Given the description of an element on the screen output the (x, y) to click on. 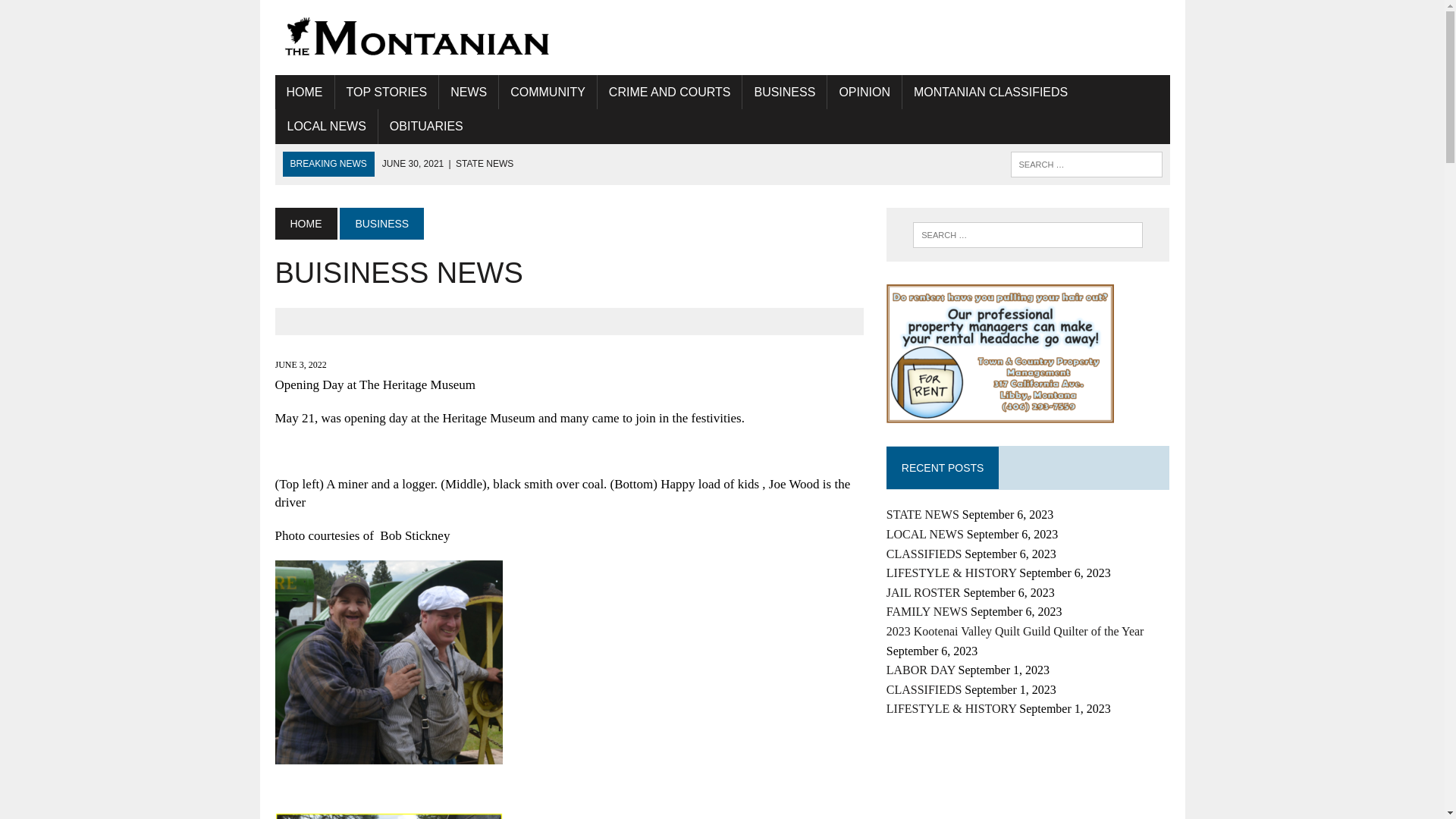
NEWS (468, 92)
HOME (305, 223)
BUSINESS (784, 92)
The Montanian (416, 37)
LOCAL NEWS (326, 126)
HOME (304, 92)
BUSINESS (381, 223)
Search (75, 14)
OPINION (864, 92)
CRIME AND COURTS (669, 92)
